Given the description of an element on the screen output the (x, y) to click on. 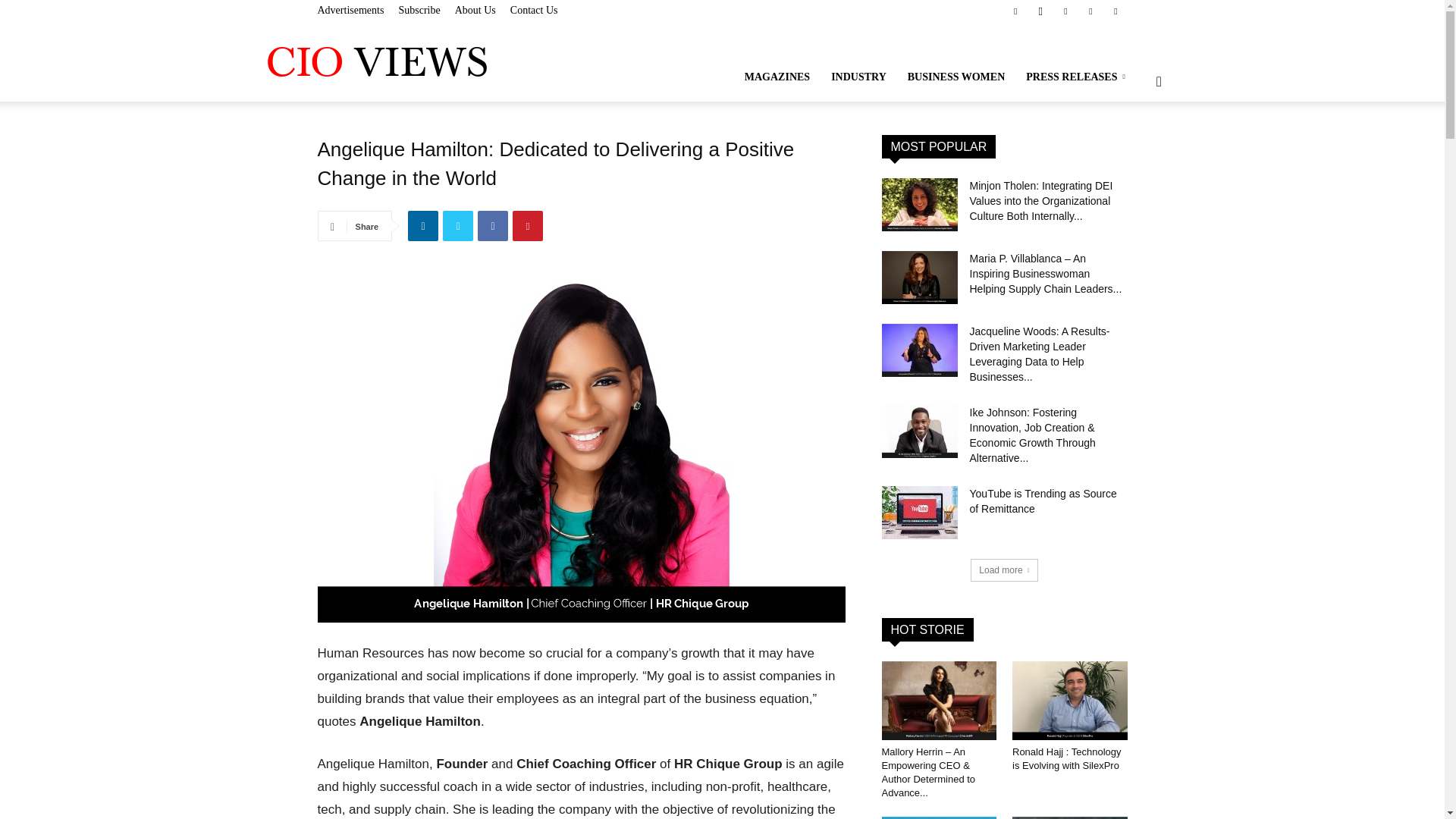
Search (1134, 153)
Linkedin (422, 225)
CIO VIEWS (376, 61)
BUSINESS WOMEN (956, 76)
About Us (475, 9)
Linkedin (1065, 10)
PRESS RELEASES (1077, 76)
Twitter (457, 225)
INDUSTRY (858, 76)
Contact Us (534, 9)
Advertisements (350, 9)
Twitter (1114, 10)
Pinterest (527, 225)
MAGAZINES (777, 76)
